Given the description of an element on the screen output the (x, y) to click on. 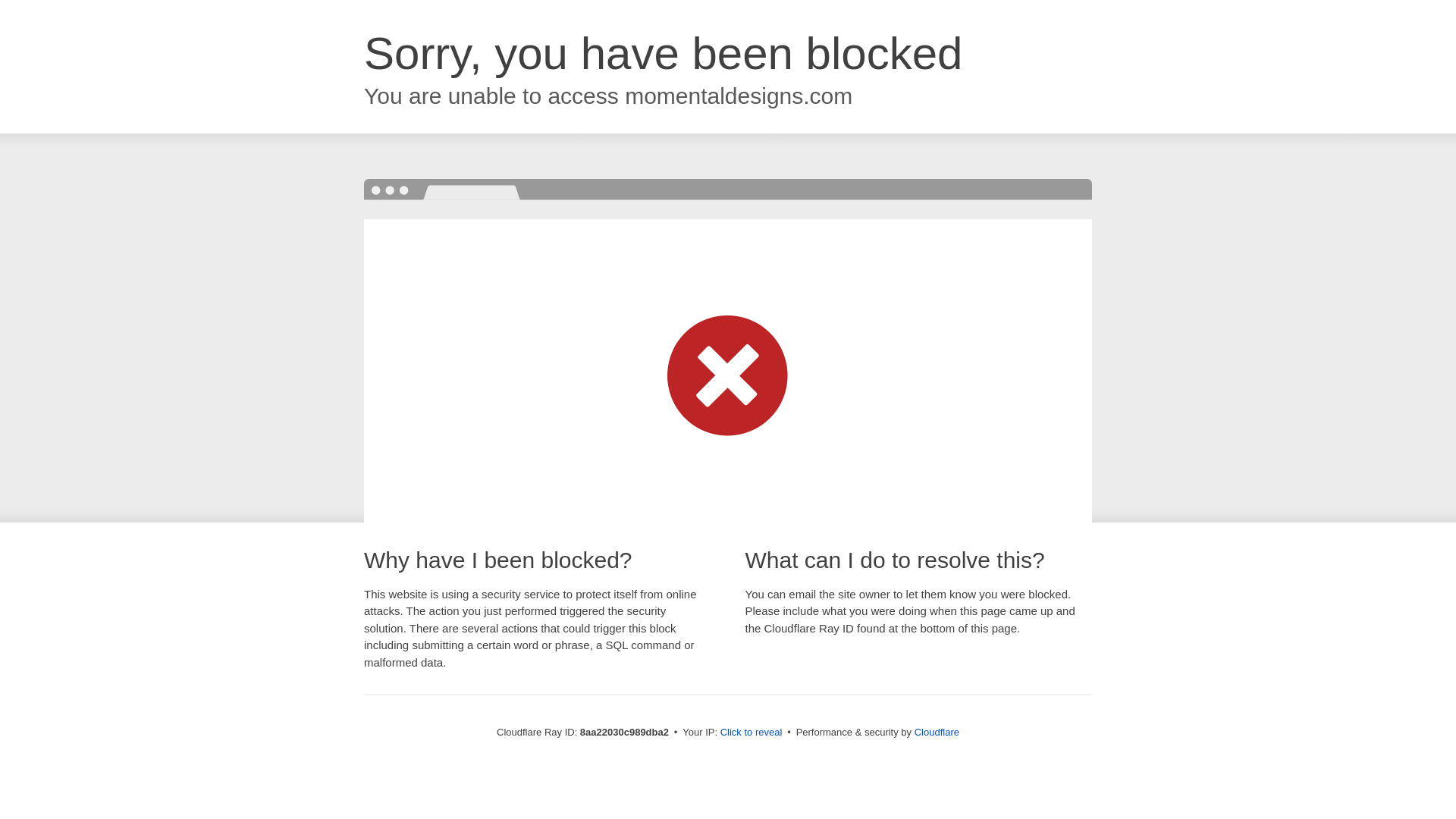
Click to reveal (751, 732)
Cloudflare (936, 731)
